Given the description of an element on the screen output the (x, y) to click on. 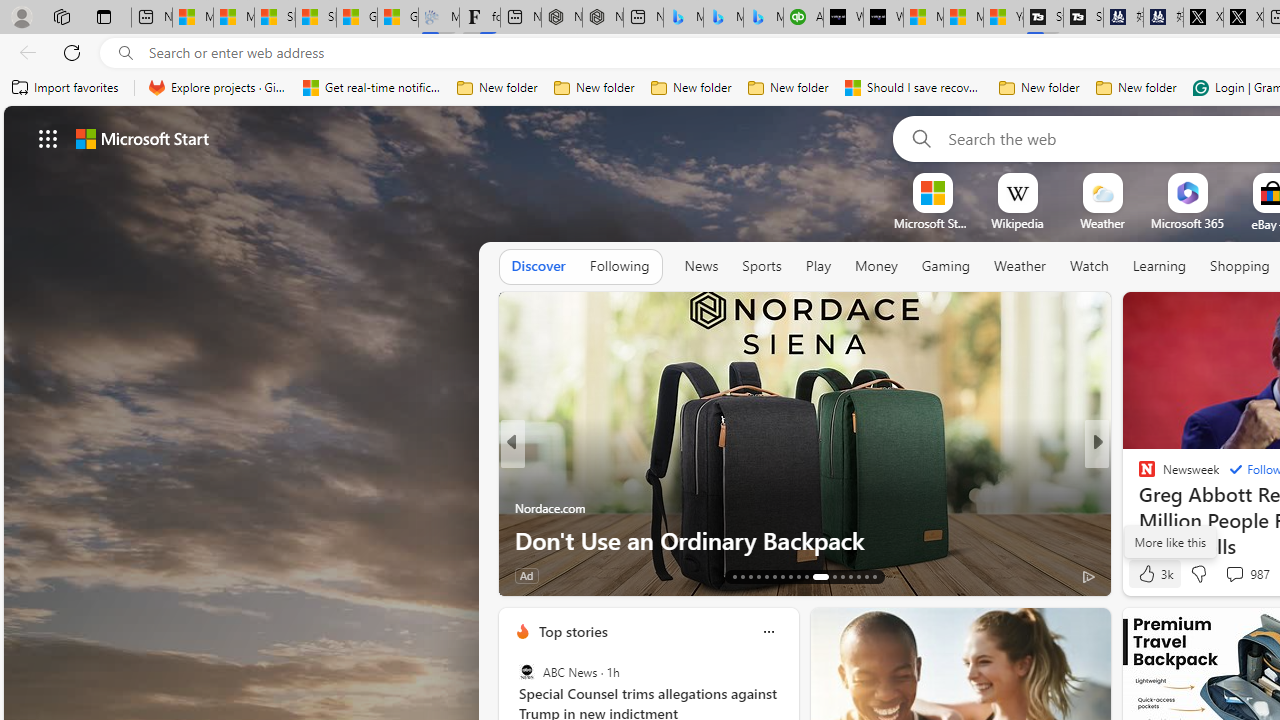
Sports (761, 265)
Weather (1019, 267)
Class: control (47, 138)
Dislike (1198, 574)
Import favorites (65, 88)
AutomationID: tab-21 (797, 576)
AutomationID: tab-19 (782, 576)
AutomationID: tab-23 (816, 576)
News (701, 265)
Search icon (125, 53)
View comments 52 Comment (1229, 575)
View comments 987 Comment (1246, 574)
View comments 2 Comment (1229, 575)
PsychLove (522, 475)
